Given the description of an element on the screen output the (x, y) to click on. 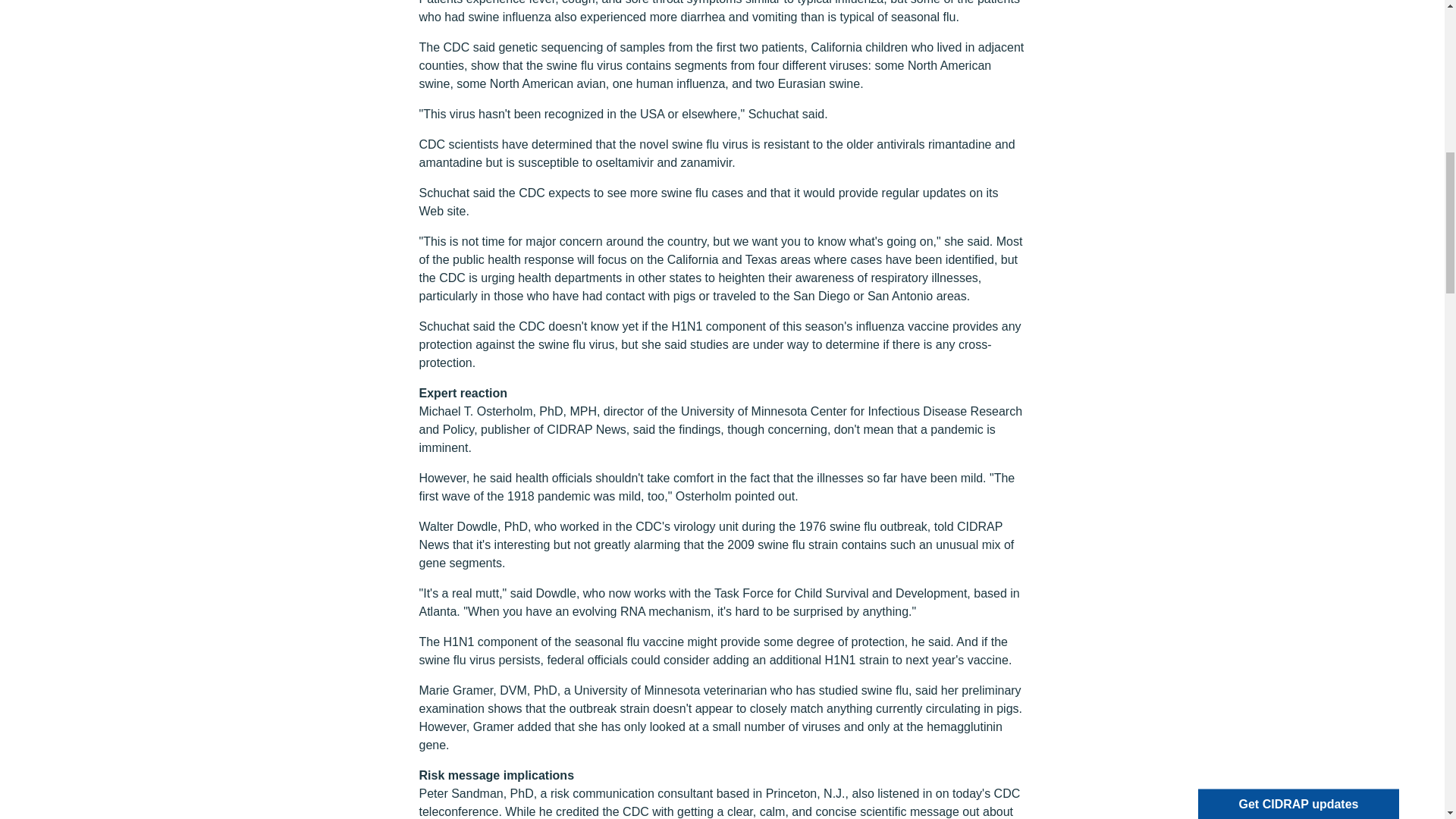
1024 (1214, 94)
256 (1214, 76)
Subscribe (1263, 195)
16384 (1214, 130)
on (1214, 40)
32768 (1214, 112)
1 (1214, 58)
